Given the description of an element on the screen output the (x, y) to click on. 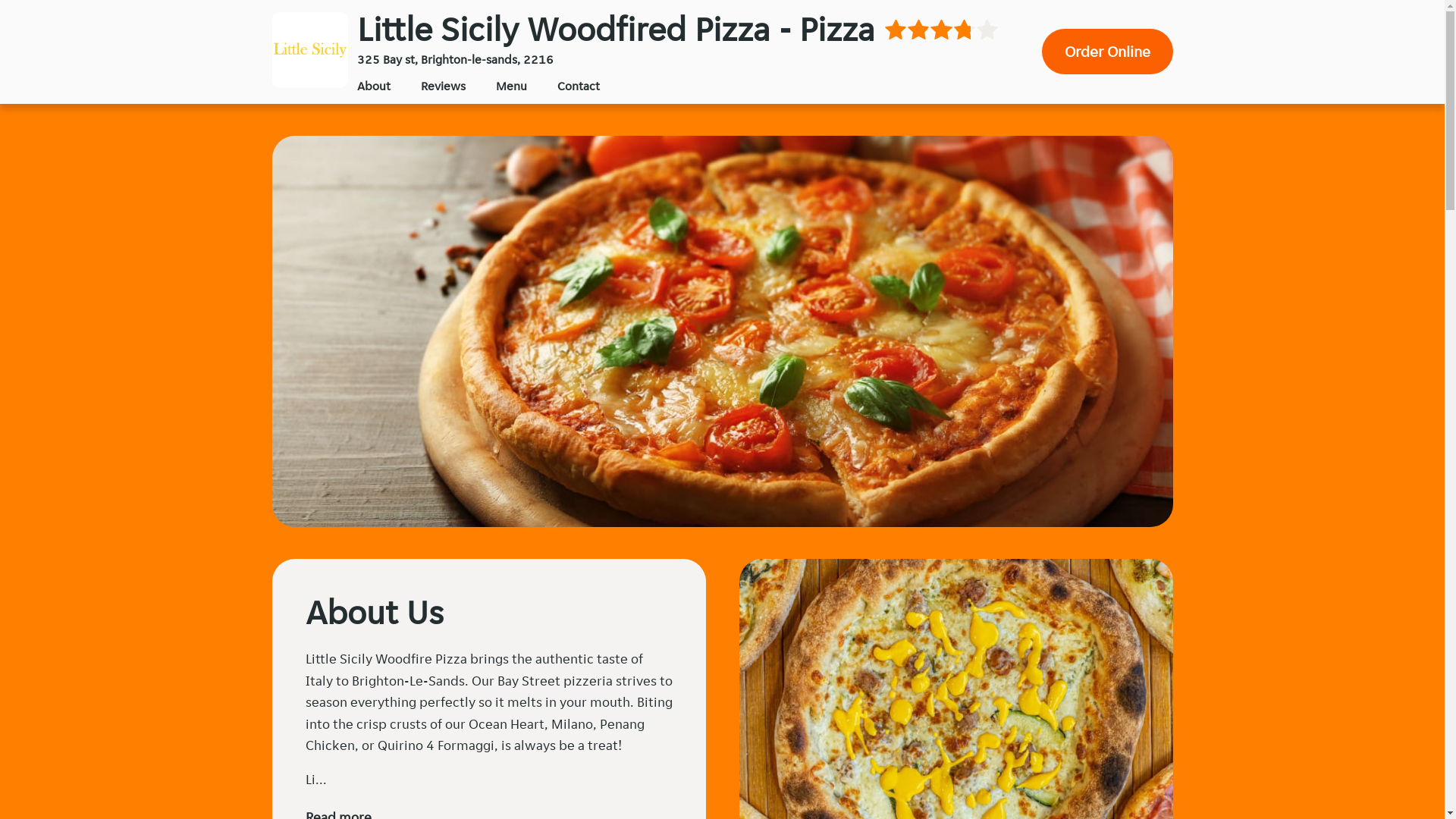
Menu Element type: text (511, 86)
About Element type: text (372, 86)
Order Online Element type: text (1107, 51)
Contact Element type: text (577, 86)
Reviews Element type: text (442, 86)
Little Sicily Woodfired Pizza Element type: hover (309, 49)
